Given the description of an element on the screen output the (x, y) to click on. 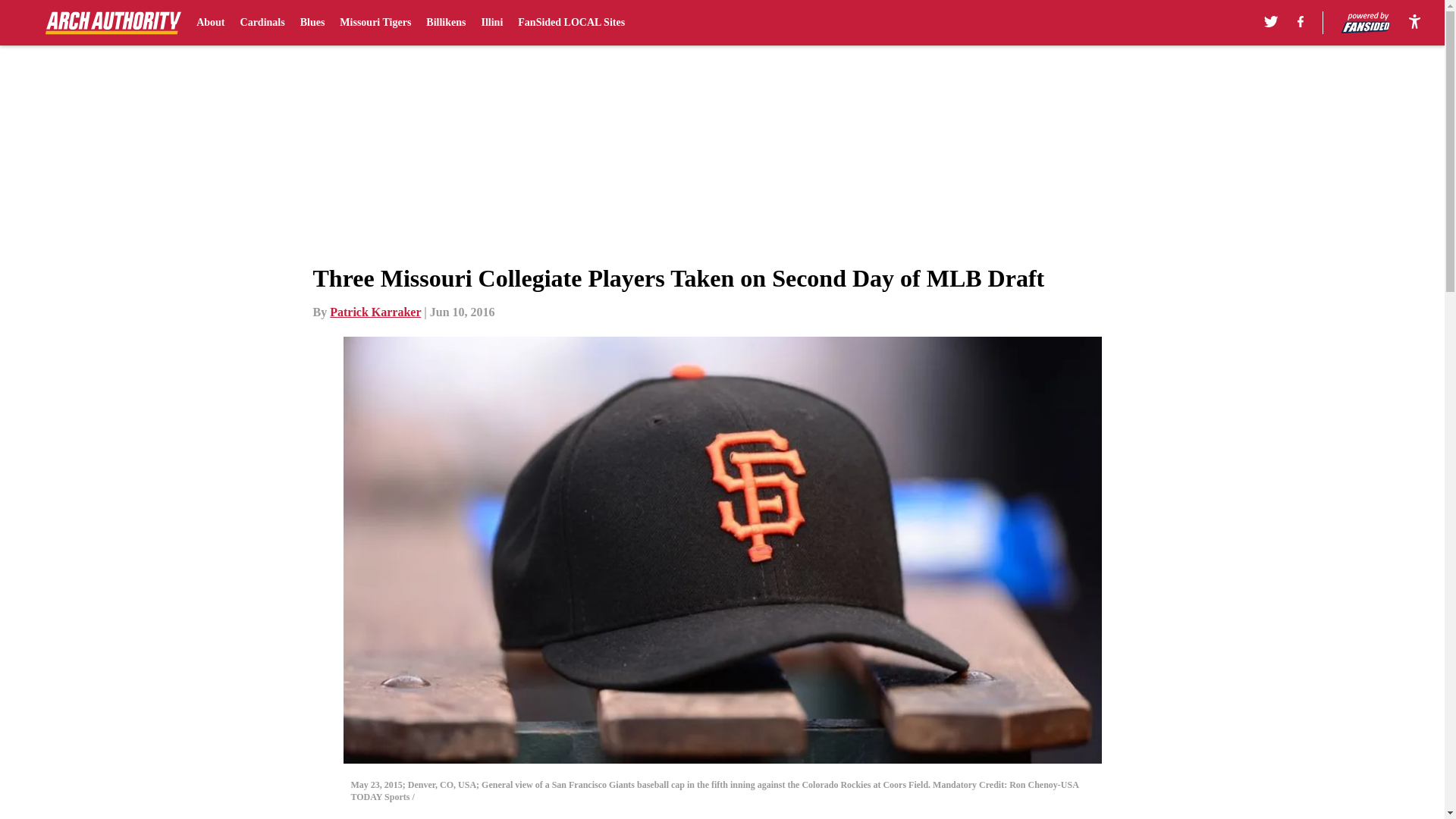
Missouri Tigers (374, 22)
Cardinals (262, 22)
Patrick Karraker (375, 311)
FanSided LOCAL Sites (571, 22)
About (210, 22)
Illini (491, 22)
Billikens (445, 22)
Blues (311, 22)
